Given the description of an element on the screen output the (x, y) to click on. 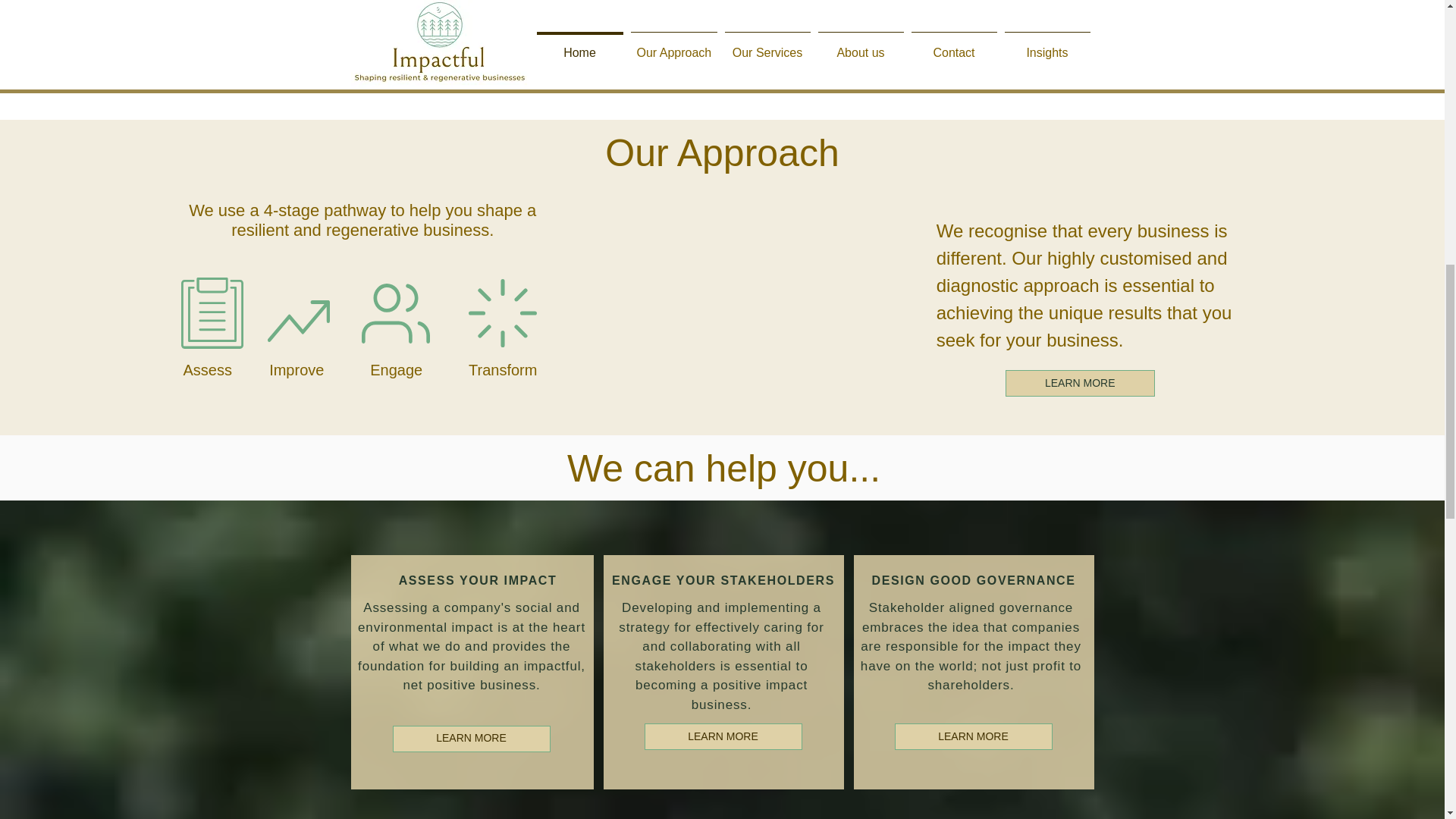
LEARN MORE (1080, 383)
LEARN MORE (471, 737)
LEARN MORE (973, 736)
LEARN MORE (723, 736)
